Given the description of an element on the screen output the (x, y) to click on. 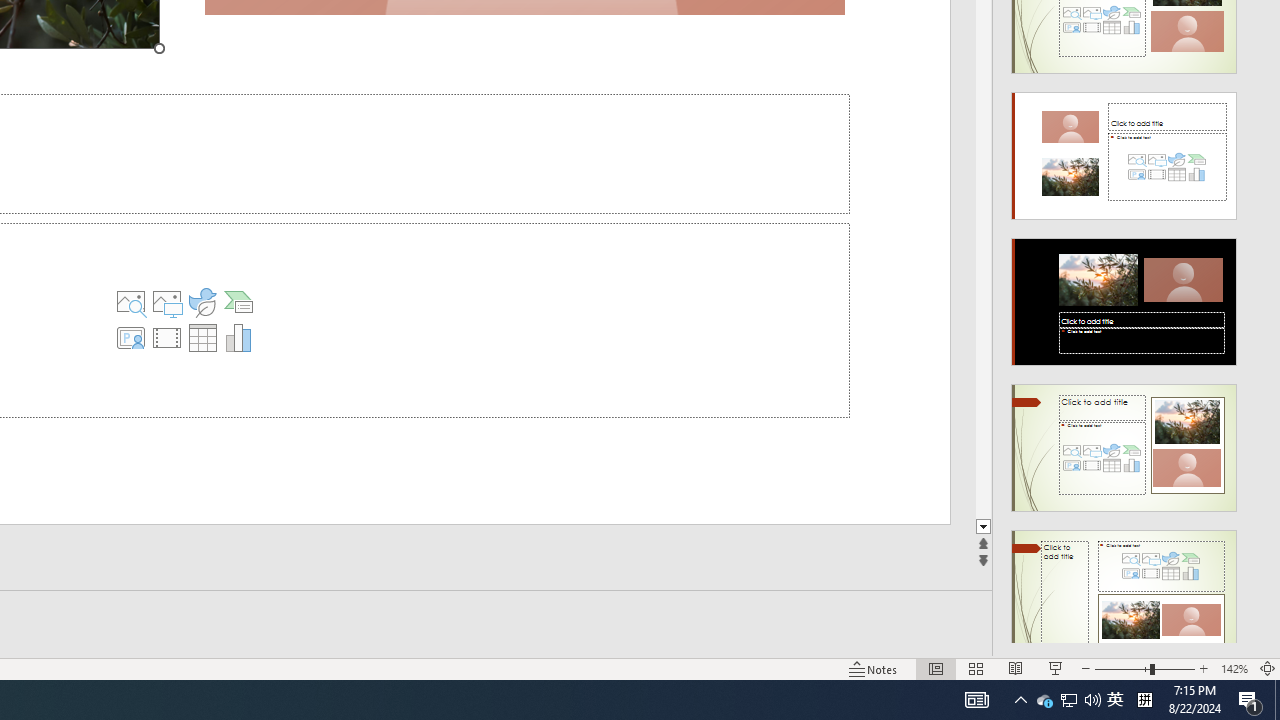
Insert a SmartArt Graphic (238, 301)
Zoom 142% (1234, 668)
Insert an Icon (202, 301)
Insert Cameo (131, 337)
